Given the description of an element on the screen output the (x, y) to click on. 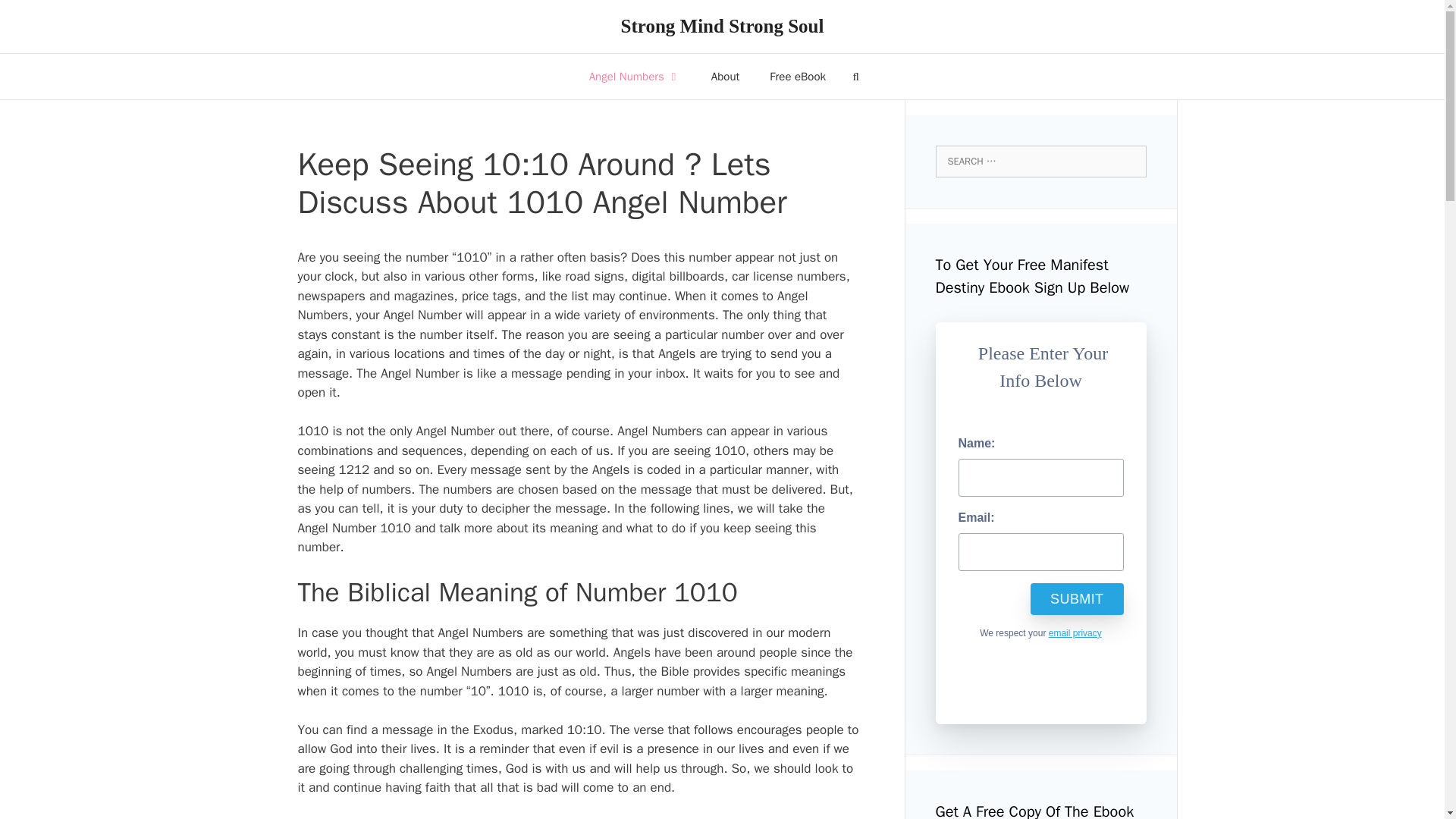
About (724, 76)
email privacy (1075, 633)
Angel Numbers (634, 76)
Search for: (1041, 161)
Privacy Policy (1075, 633)
Submit (1076, 598)
Free eBook (797, 76)
Strong Mind Strong Soul (722, 25)
Submit (1076, 598)
Search (33, 15)
